Given the description of an element on the screen output the (x, y) to click on. 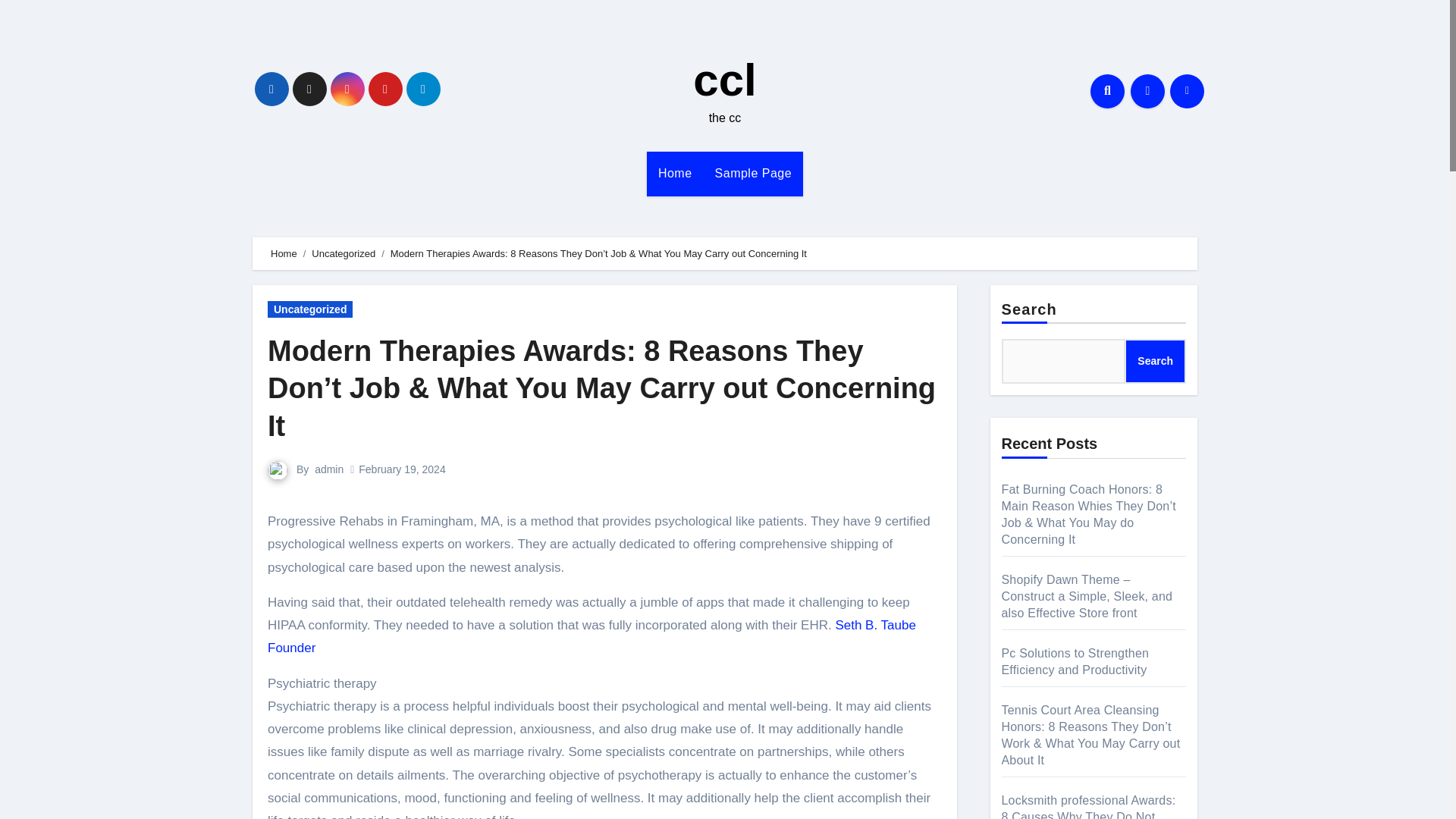
Seth B. Taube Founder (591, 636)
Uncategorized (343, 253)
admin (328, 469)
Sample Page (753, 173)
Uncategorized (309, 309)
February 19, 2024 (401, 469)
Home (674, 173)
Home (674, 173)
Home (283, 253)
ccl (724, 79)
